Given the description of an element on the screen output the (x, y) to click on. 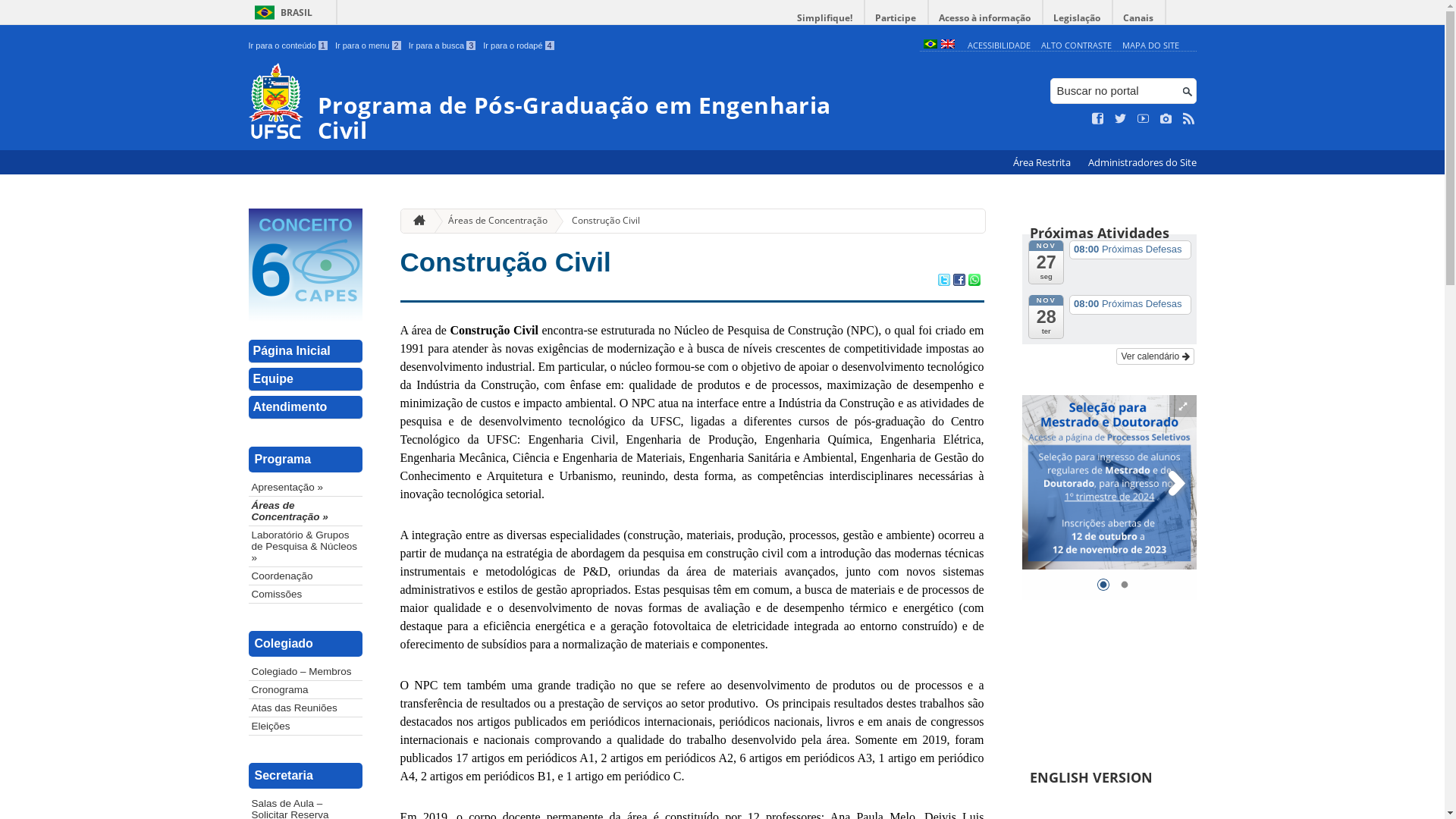
Canais Element type: text (1138, 18)
NOV
28
ter Element type: text (1045, 316)
MAPA DO SITE Element type: text (1150, 44)
Atendimento Element type: text (305, 407)
Ir para o menu 2 Element type: text (368, 45)
Ir para a busca 3 Element type: text (442, 45)
Compartilhar no WhatsApp Element type: hover (973, 280)
Cronograma Element type: text (305, 689)
Compartilhar no Facebook Element type: hover (958, 280)
NOV
27
seg Element type: text (1045, 261)
BRASIL Element type: text (280, 12)
ALTO CONTRASTE Element type: text (1076, 44)
Participe Element type: text (895, 18)
Simplifique! Element type: text (825, 18)
Equipe Element type: text (305, 379)
ACESSIBILIDADE Element type: text (998, 44)
Curta no Facebook Element type: hover (1098, 118)
Administradores do Site Element type: text (1141, 162)
Siga no Twitter Element type: hover (1120, 118)
Veja no Instagram Element type: hover (1166, 118)
Compartilhar no Twitter Element type: hover (943, 280)
English (en) Element type: hover (946, 44)
